Given the description of an element on the screen output the (x, y) to click on. 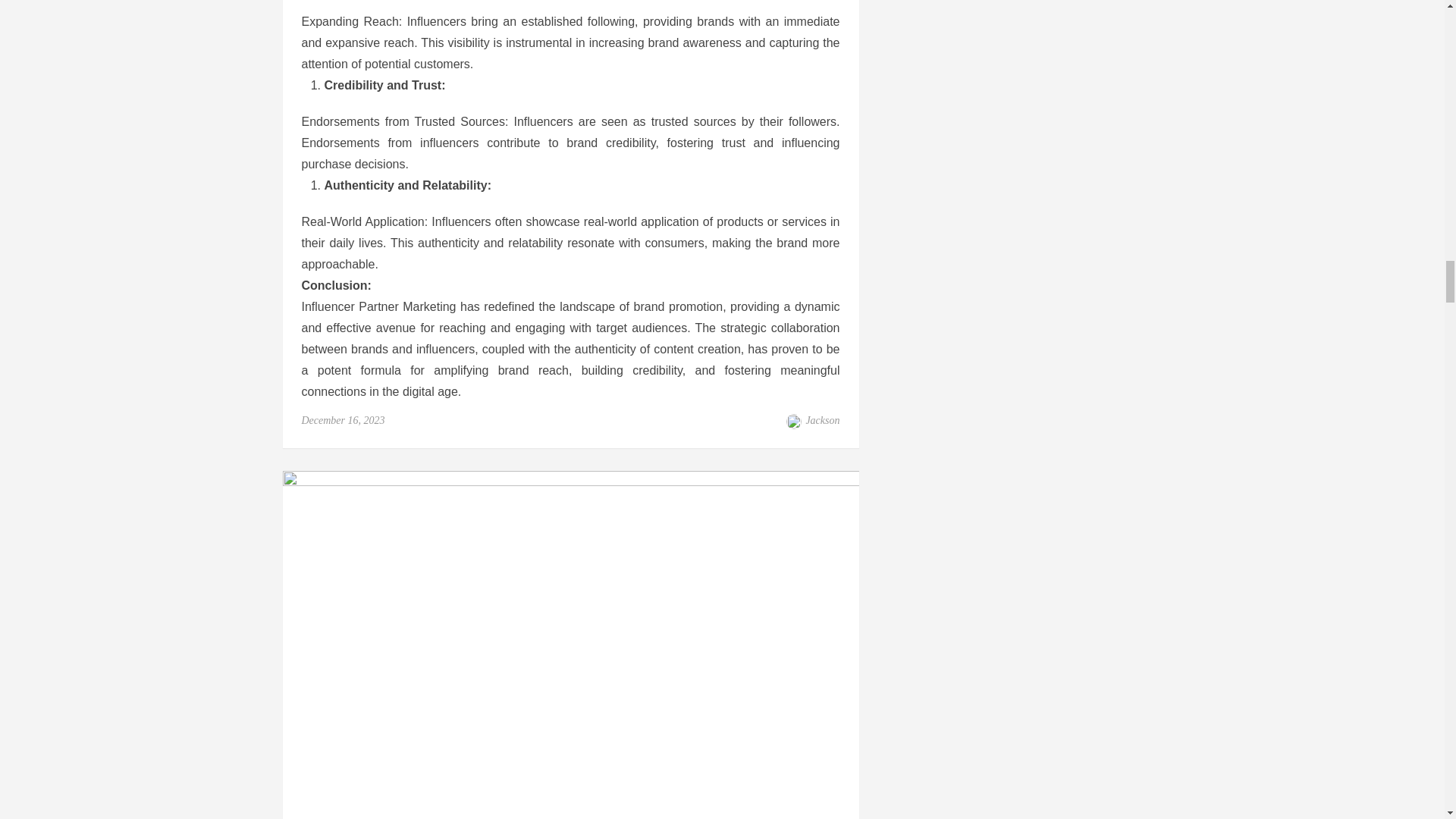
December 16, 2023 (343, 419)
Jackson (822, 419)
